Given the description of an element on the screen output the (x, y) to click on. 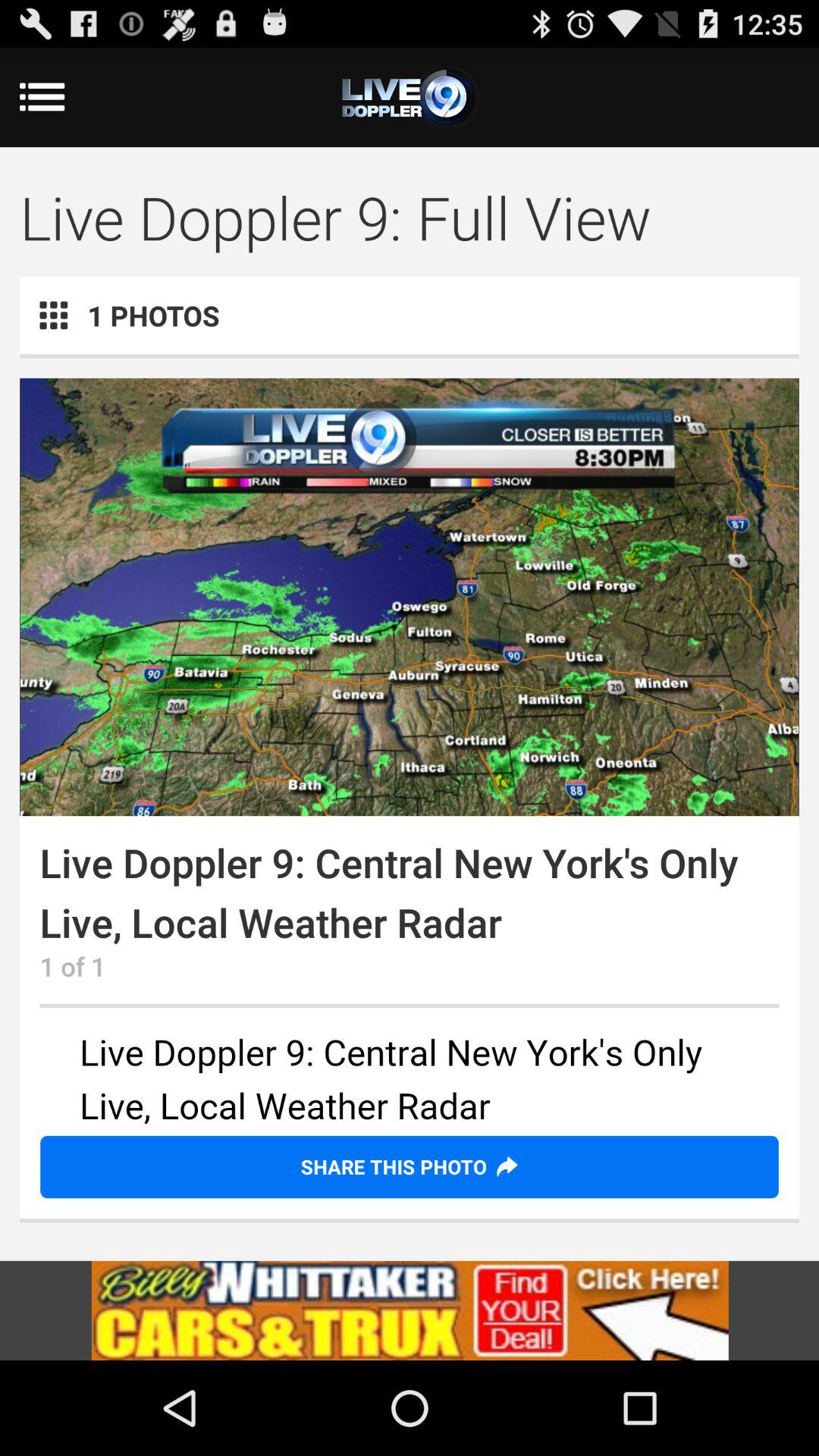
advertisement page (409, 1310)
